Given the description of an element on the screen output the (x, y) to click on. 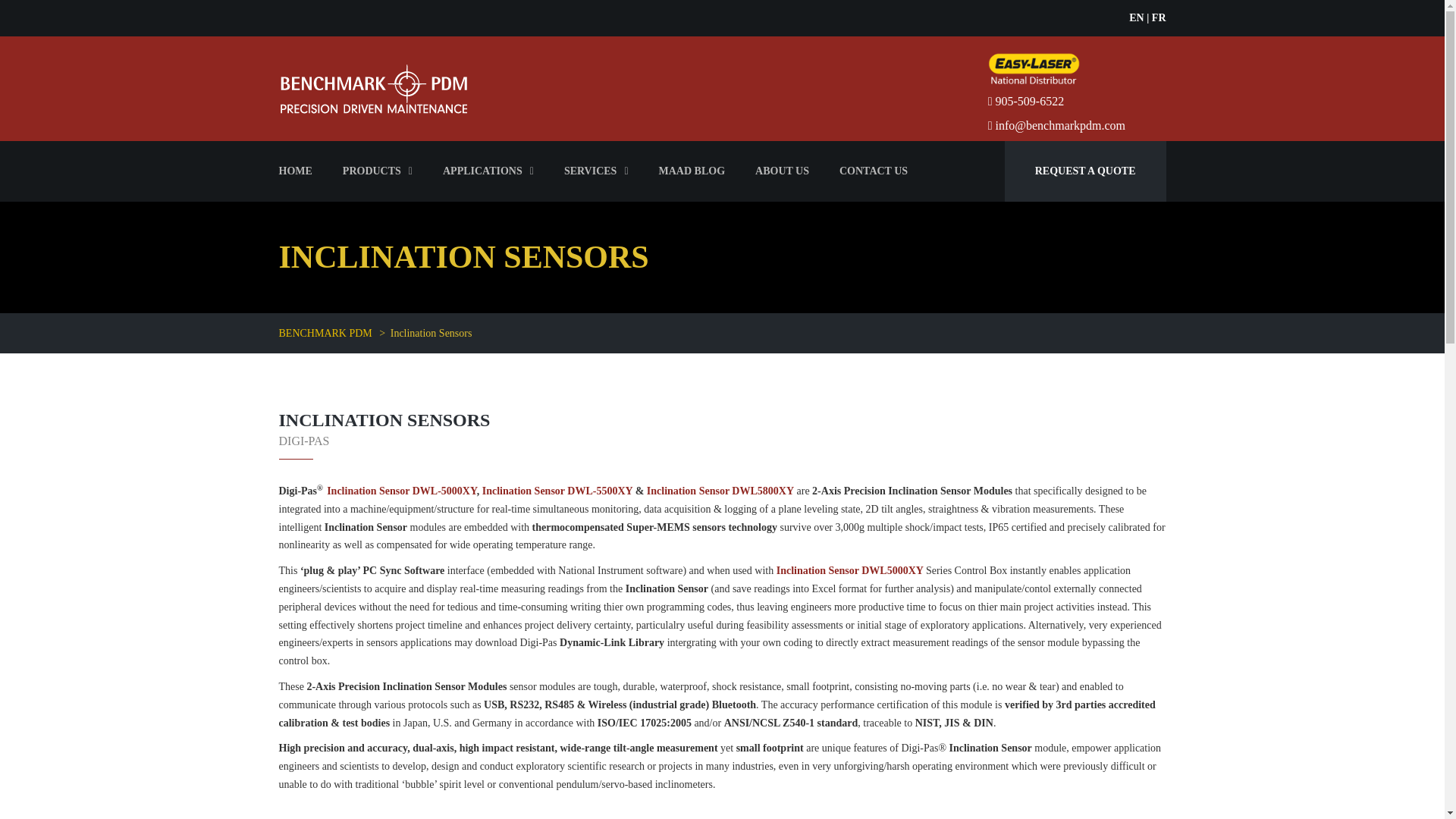
PRODUCTS (377, 170)
FR (1158, 17)
905-509-6522 (1026, 100)
Go to BENCHMARK PDM. (326, 333)
EN (1135, 17)
